Given the description of an element on the screen output the (x, y) to click on. 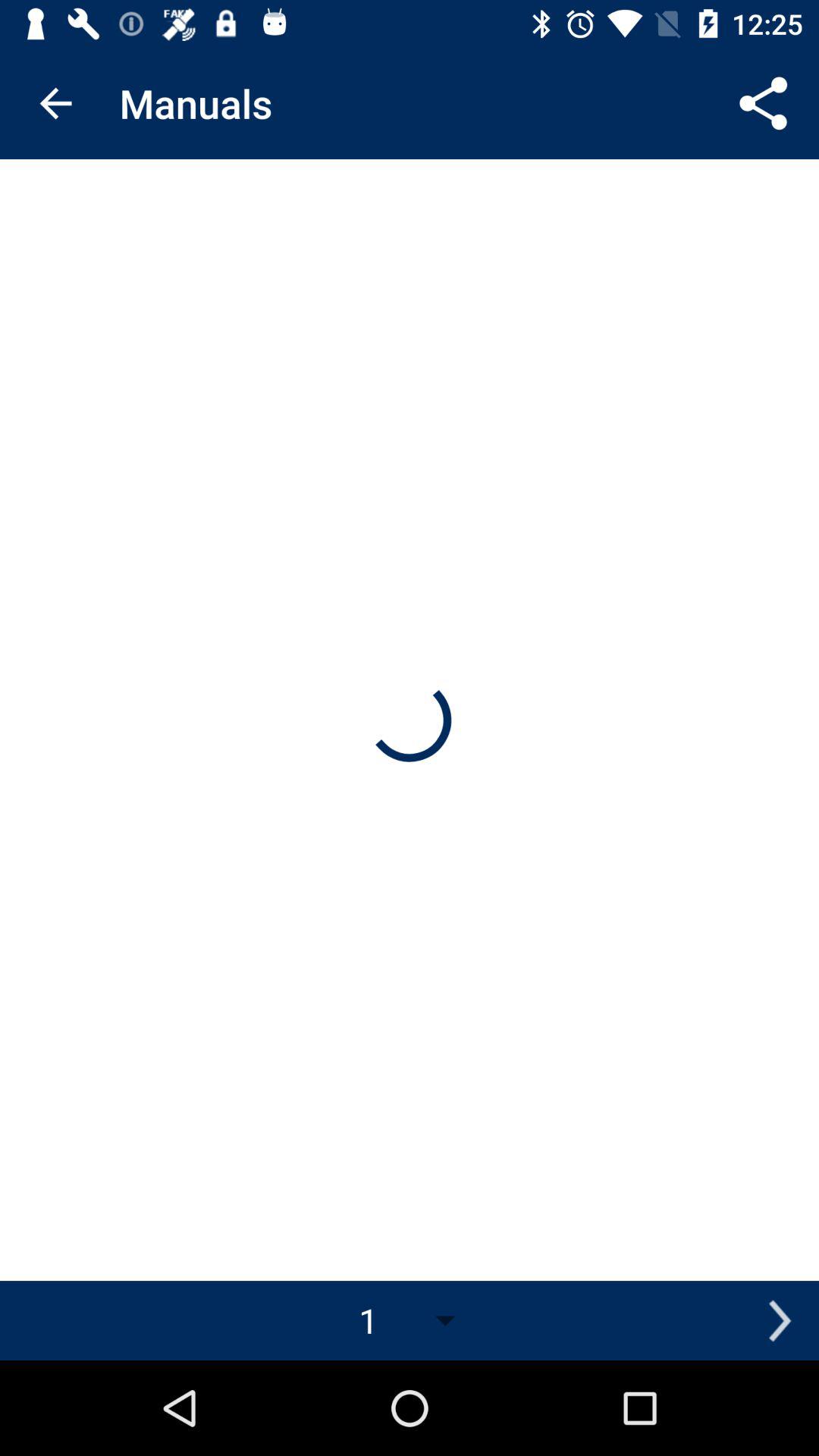
tap item to the right of the   1 icon (779, 1320)
